Given the description of an element on the screen output the (x, y) to click on. 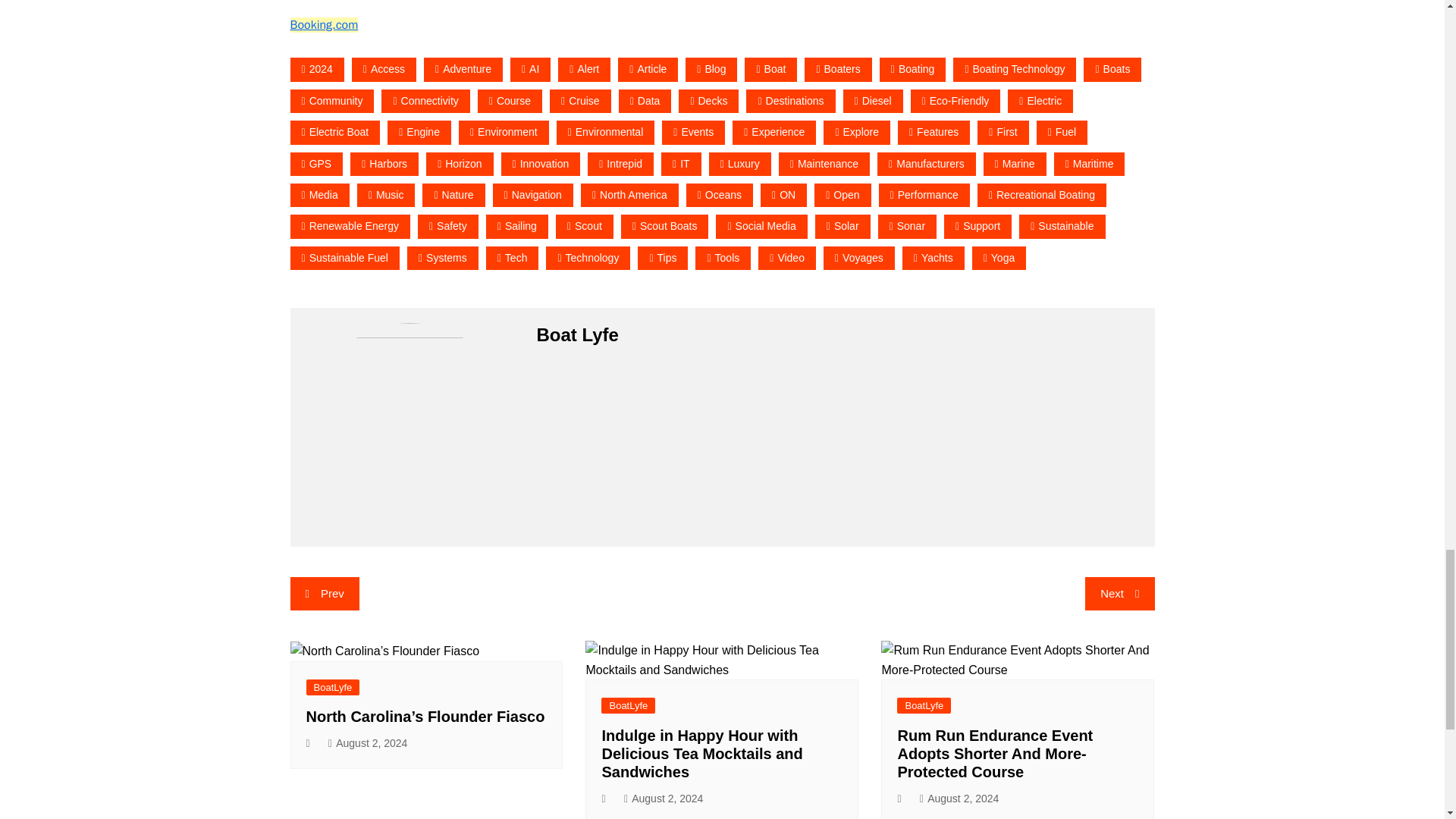
Boating Technology (1014, 69)
Diesel (872, 101)
2024 (316, 69)
Boating (912, 69)
Connectivity (424, 101)
Blog (710, 69)
Alert (583, 69)
Adventure (462, 69)
Booking.com (323, 24)
Community (331, 101)
Cruise (580, 101)
Boats (1112, 69)
Data (644, 101)
Article (647, 69)
Destinations (789, 101)
